Given the description of an element on the screen output the (x, y) to click on. 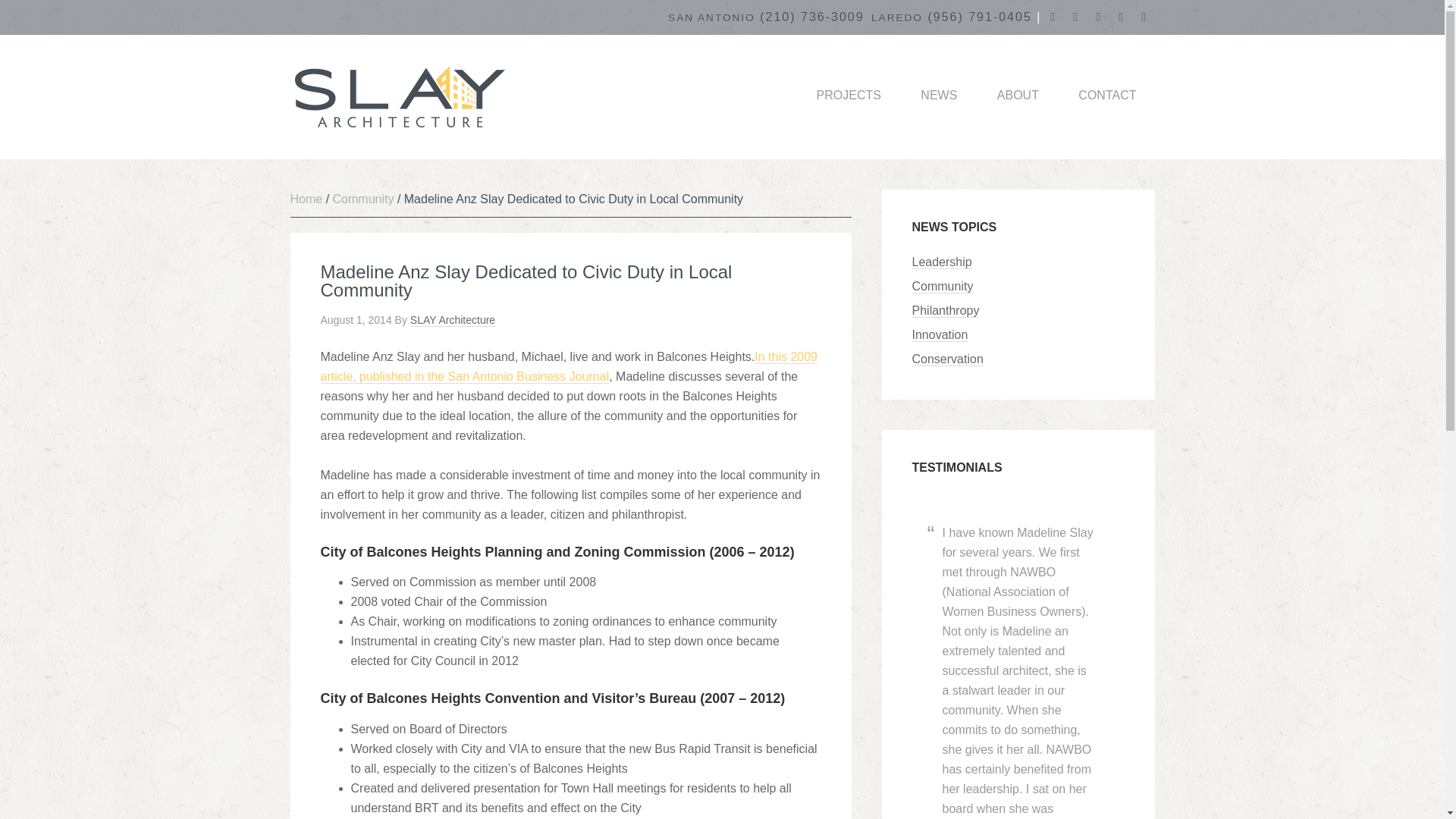
Innovation (939, 335)
Community (363, 198)
SLAY ARCHITECTURE (410, 96)
Community (941, 286)
Home (305, 198)
Philanthropy (944, 310)
CONTACT (1106, 95)
SLAY Architecture (452, 319)
ABOUT (1017, 95)
Leadership (941, 262)
Conservation (946, 359)
NEWS (938, 95)
PROJECTS (848, 95)
